Given the description of an element on the screen output the (x, y) to click on. 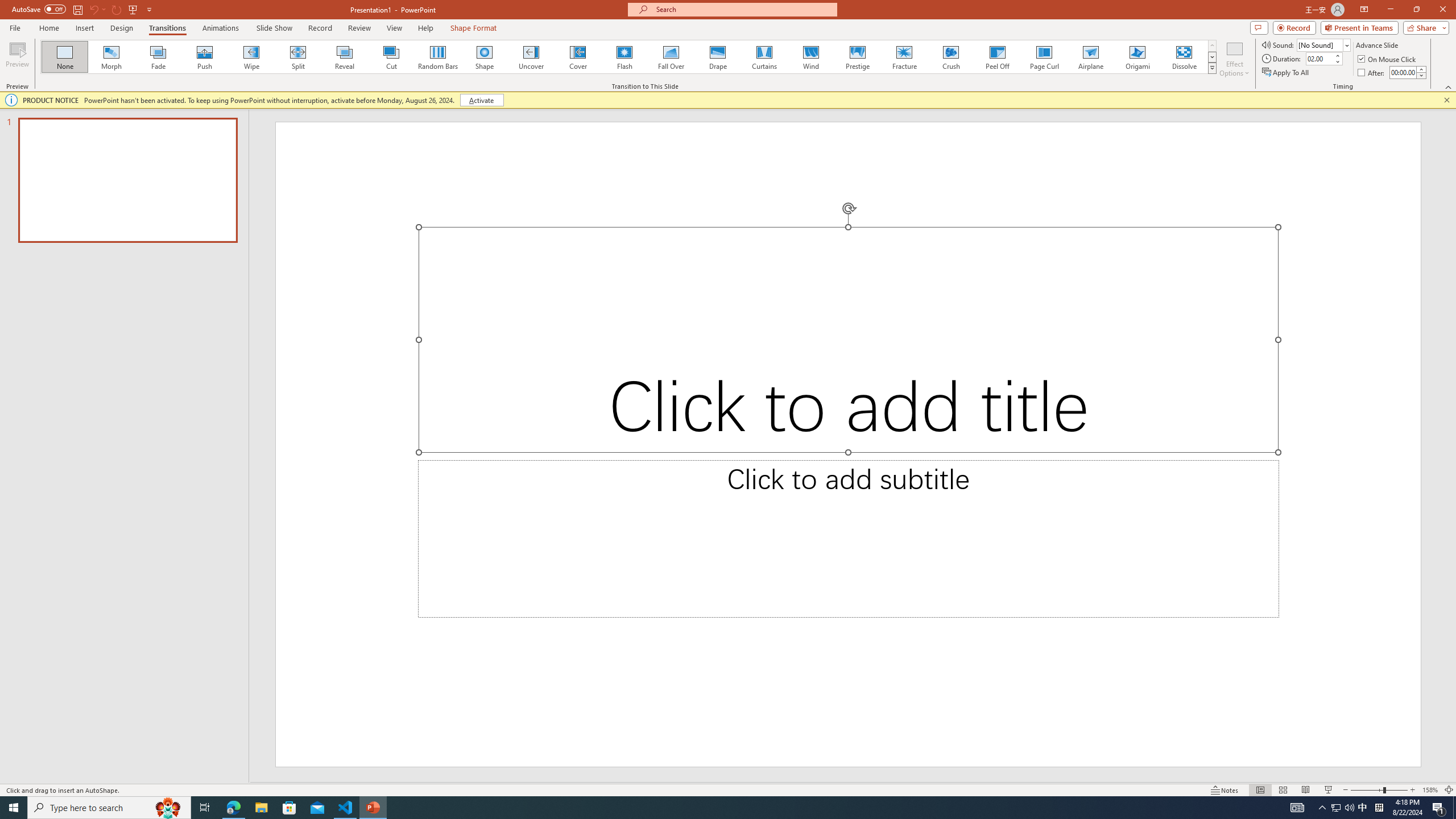
Page Curl (1043, 56)
Wind (810, 56)
Close this message (1446, 99)
Random Bars (437, 56)
Cover (577, 56)
Origami (1136, 56)
Curtains (764, 56)
After (1372, 72)
